Given the description of an element on the screen output the (x, y) to click on. 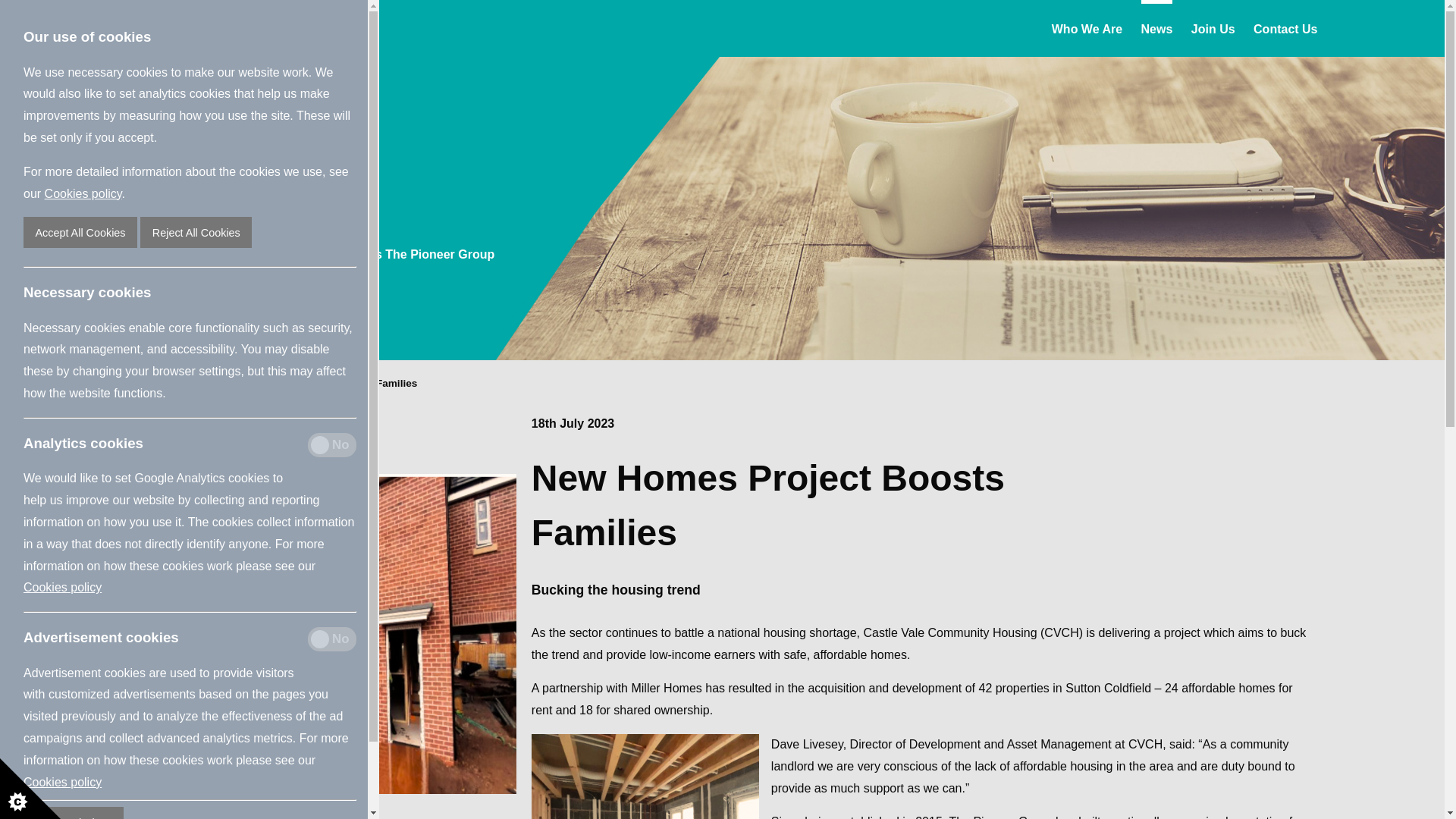
Cookies policy (83, 192)
Who We Are (1086, 27)
Home (153, 384)
Contact Us (1285, 27)
Cookies policy (62, 586)
Cookie Control Icon (30, 788)
Save and Close (73, 812)
Contact Us (1285, 27)
Cookie Control Icon (30, 788)
News (203, 384)
